Given the description of an element on the screen output the (x, y) to click on. 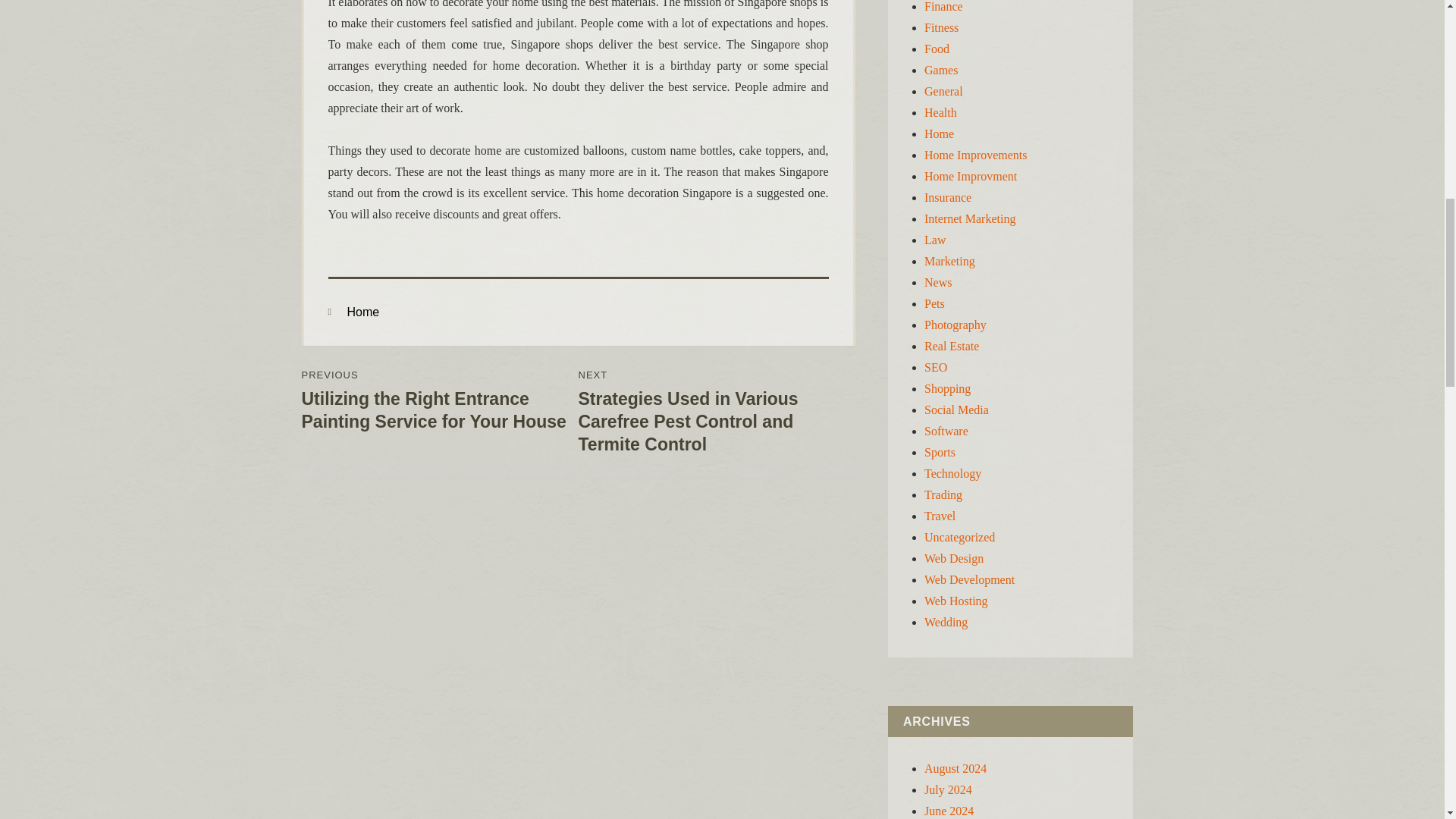
Finance (943, 6)
Fitness (941, 27)
Games (941, 69)
Home (363, 311)
Home Improvment (970, 175)
Home Improvements (975, 154)
Internet Marketing (969, 218)
Insurance (947, 196)
Law (934, 239)
General (943, 91)
